Given the description of an element on the screen output the (x, y) to click on. 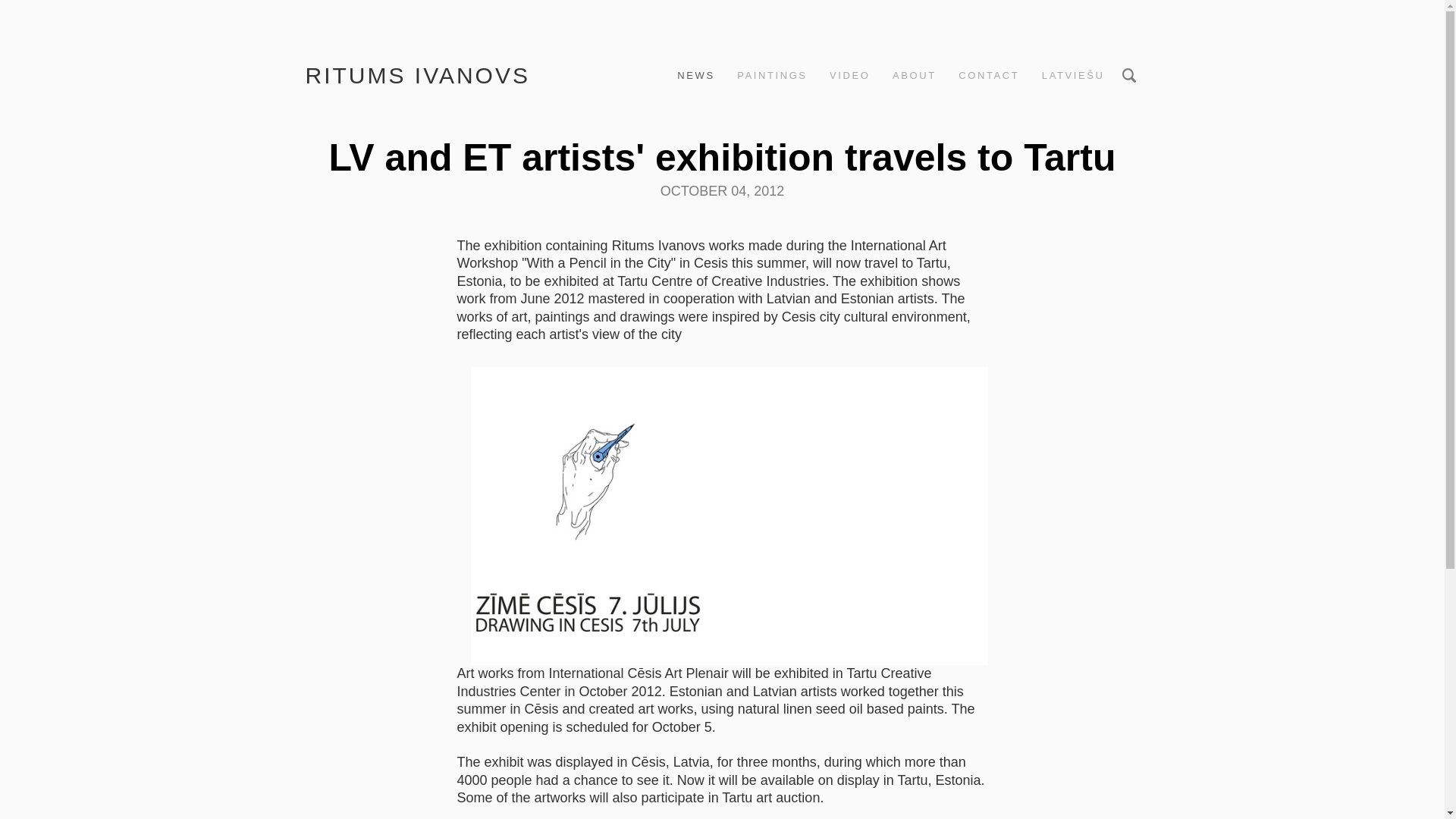
NEWS (694, 75)
PAINTINGS (771, 75)
VIDEO (849, 75)
RITUMS IVANOVS (416, 75)
CONTACT (989, 75)
ABOUT (914, 75)
